Given the description of an element on the screen output the (x, y) to click on. 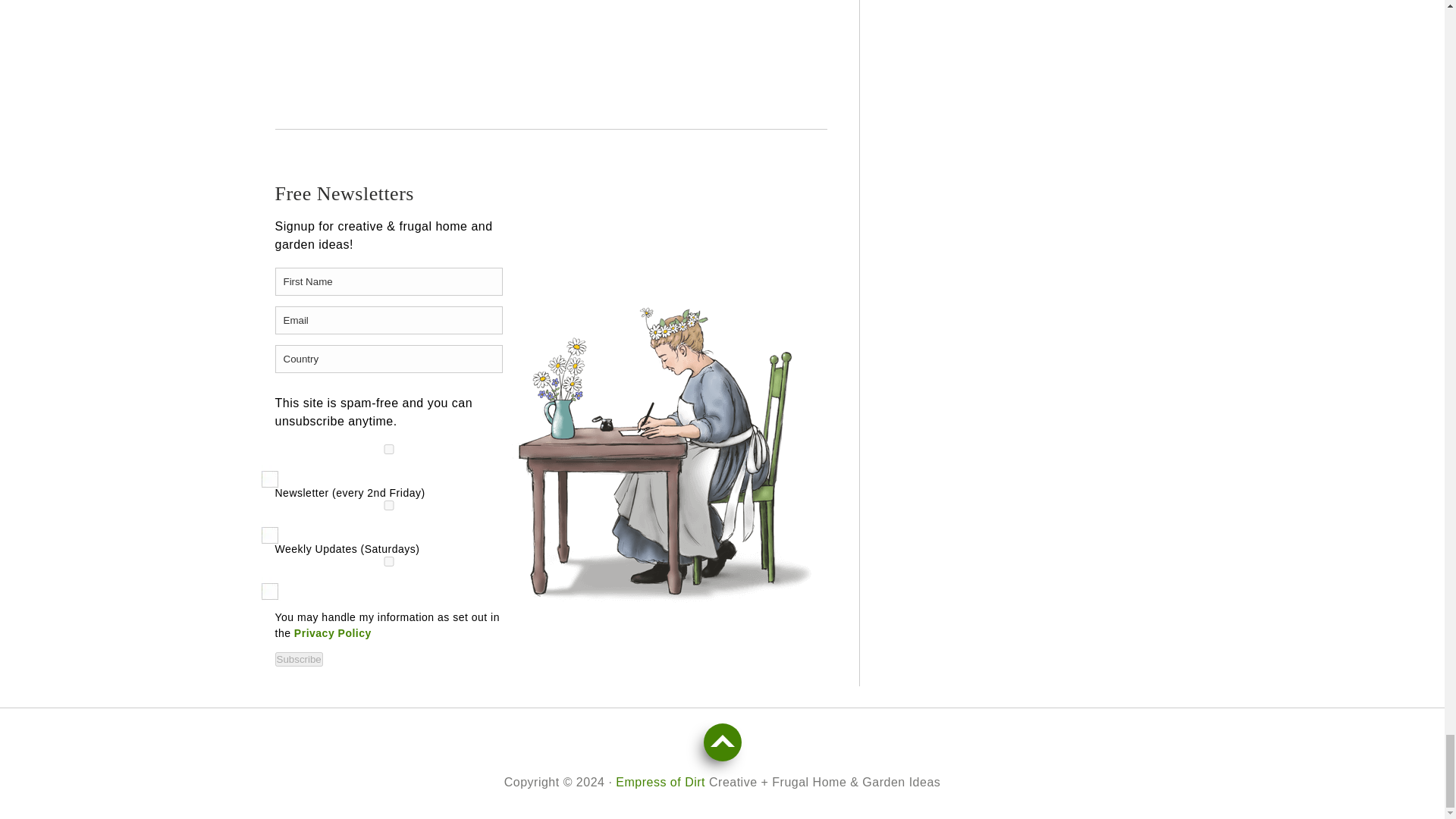
on (388, 561)
128057214974822061 (388, 505)
128057192802682048 (388, 449)
